Given the description of an element on the screen output the (x, y) to click on. 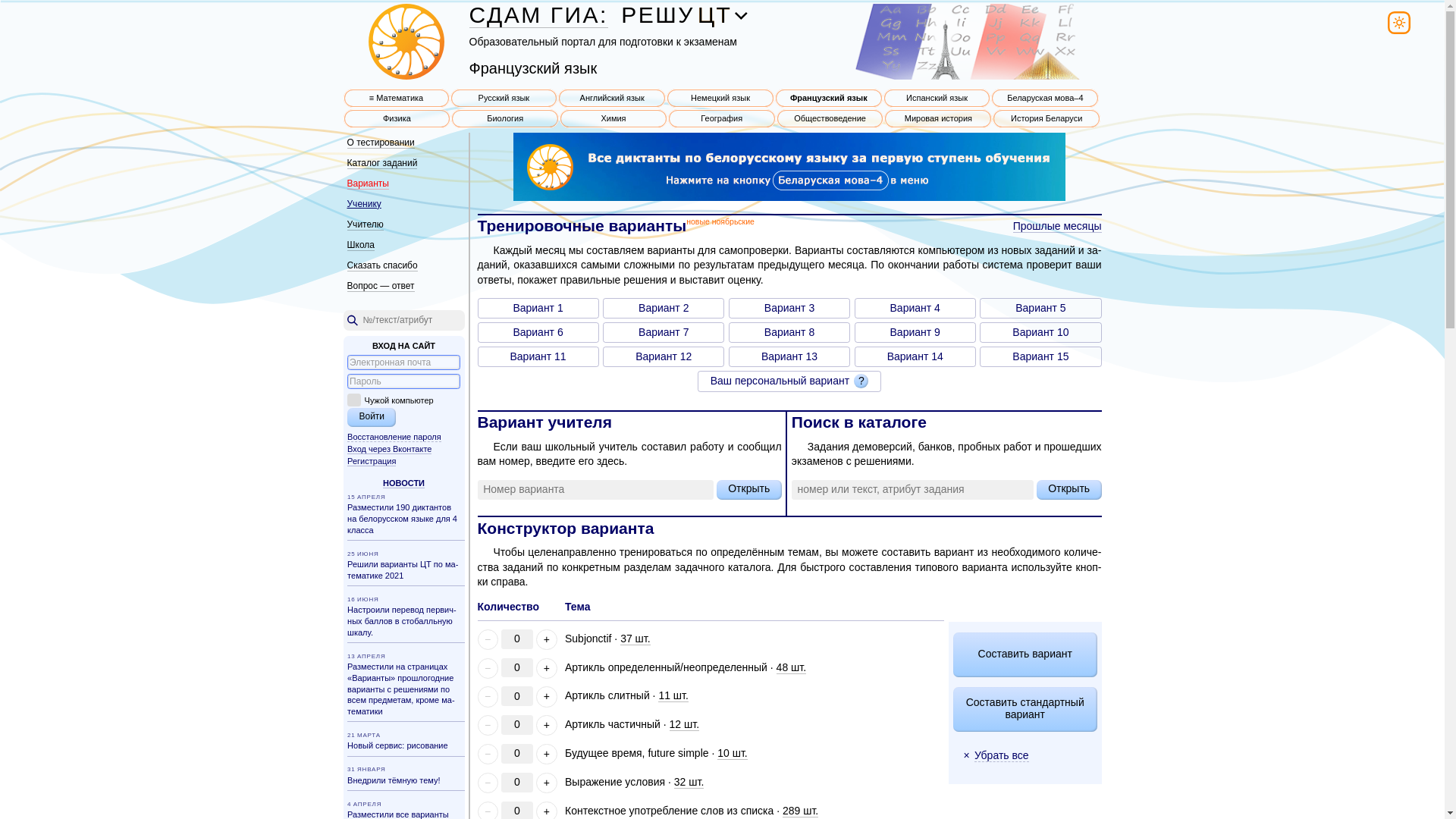
+ Element type: text (546, 753)
+ Element type: text (546, 668)
? Element type: text (861, 381)
+ Element type: text (546, 725)
+ Element type: text (546, 639)
+ Element type: text (546, 696)
+ Element type: text (546, 782)
